Given the description of an element on the screen output the (x, y) to click on. 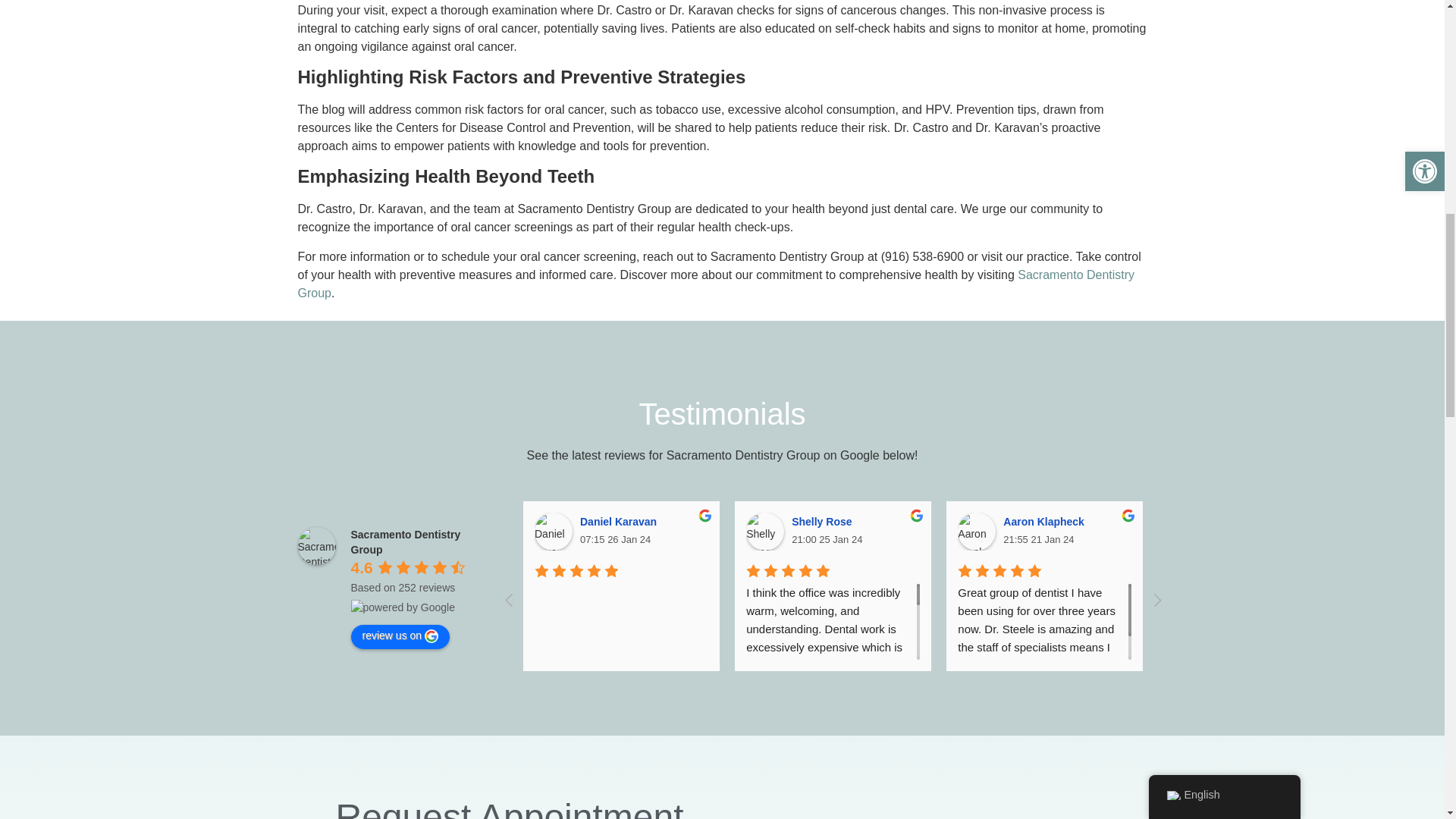
powered by Google (402, 607)
Jeff Engle (1400, 531)
Stanton Miller (1188, 531)
Sacramento Dentistry Group (315, 546)
Shelly Rose (764, 531)
Daniel Karavan (553, 531)
Aaron Klapheck (976, 531)
